Given the description of an element on the screen output the (x, y) to click on. 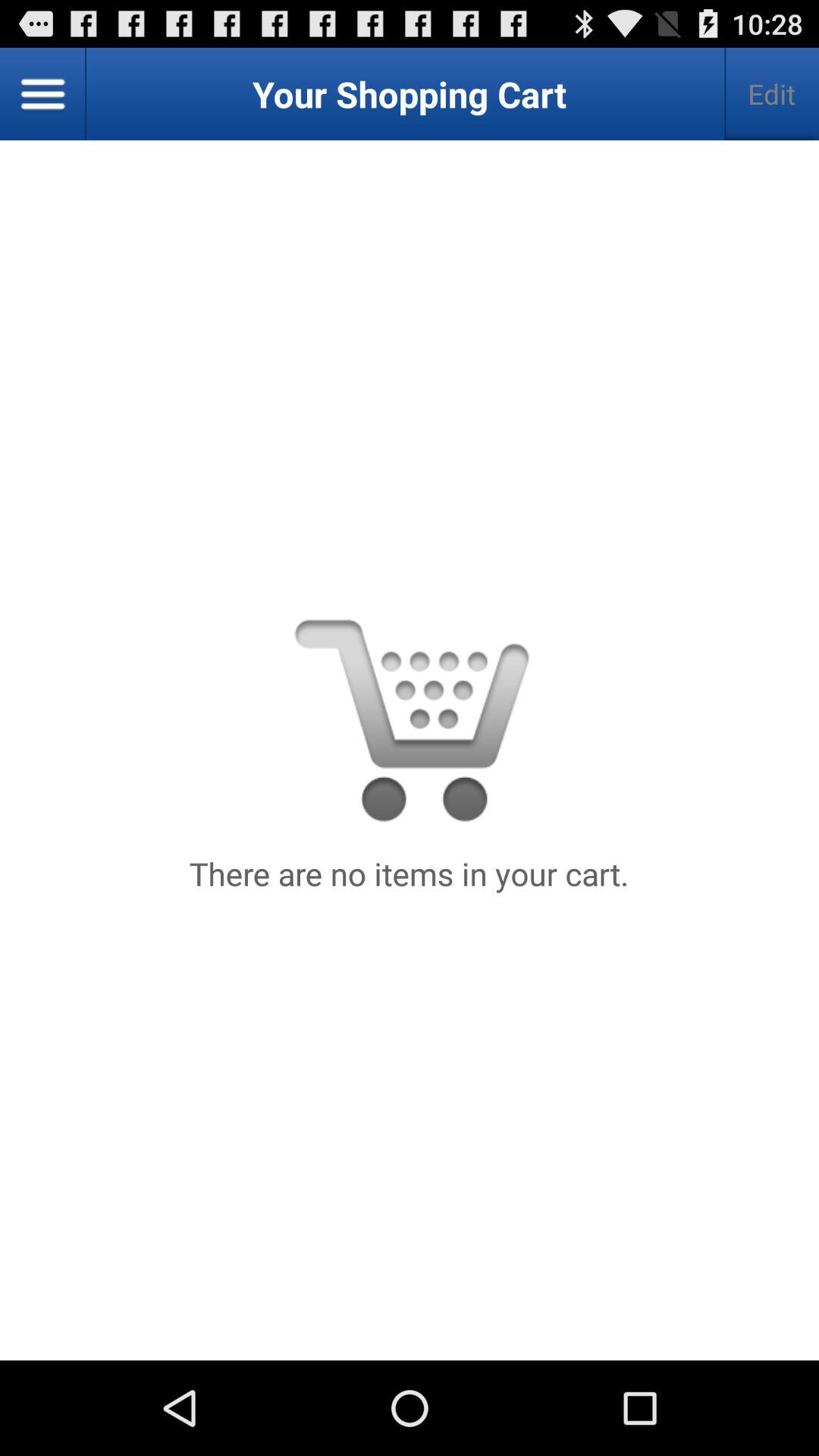
open the icon at the top left corner (43, 93)
